Given the description of an element on the screen output the (x, y) to click on. 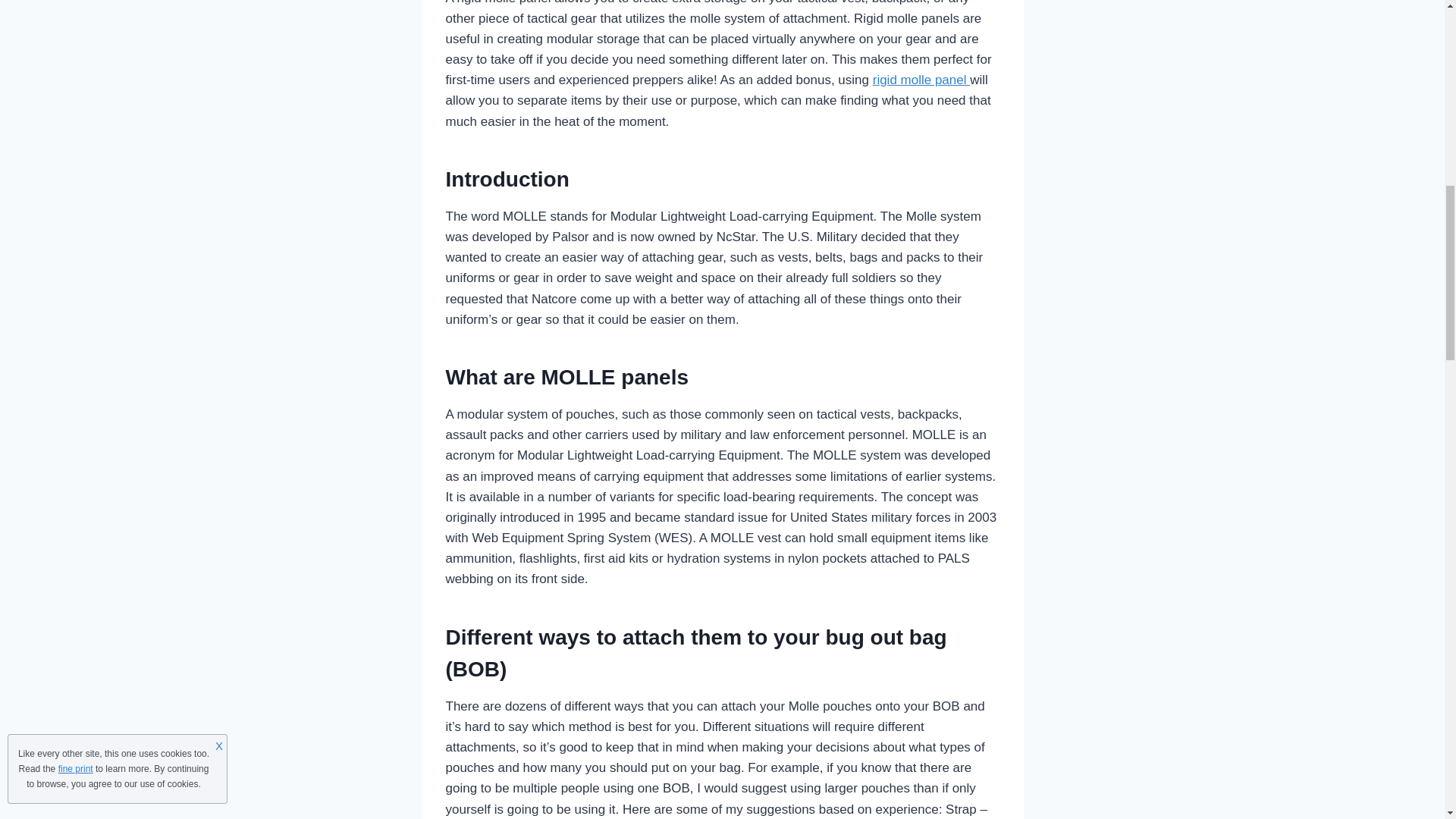
rigid molle panel (921, 79)
